Given the description of an element on the screen output the (x, y) to click on. 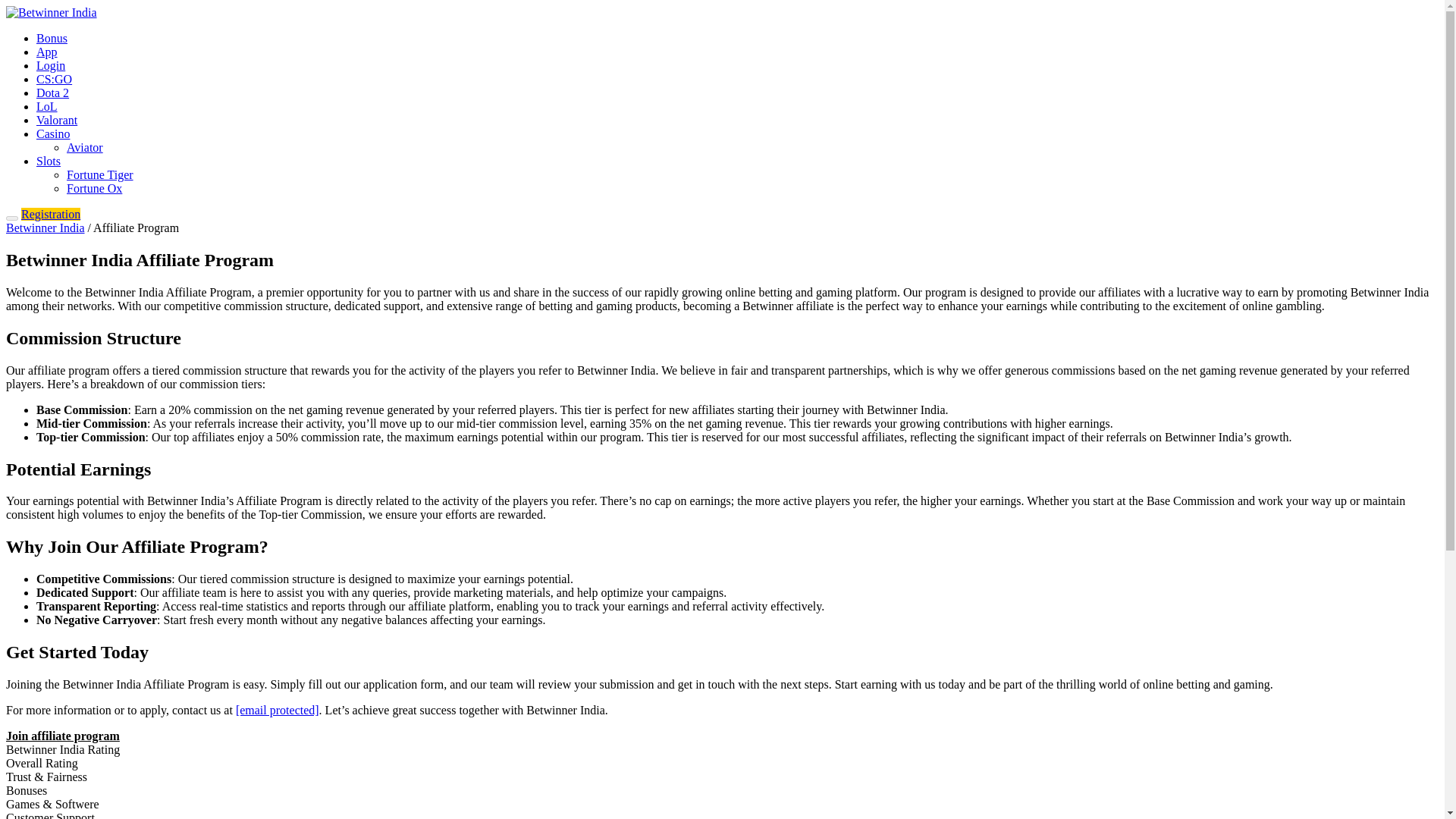
CS:GO (53, 78)
LoL (47, 106)
Fortune Ox (94, 187)
Login (50, 65)
App (47, 51)
Casino (52, 133)
Betwinner India (44, 227)
Slots (48, 160)
Fortune Tiger (99, 174)
Dota 2 (52, 92)
Registration (50, 214)
Aviator (84, 146)
Bonus (51, 38)
Valorant (56, 119)
Join affiliate program (62, 735)
